Given the description of an element on the screen output the (x, y) to click on. 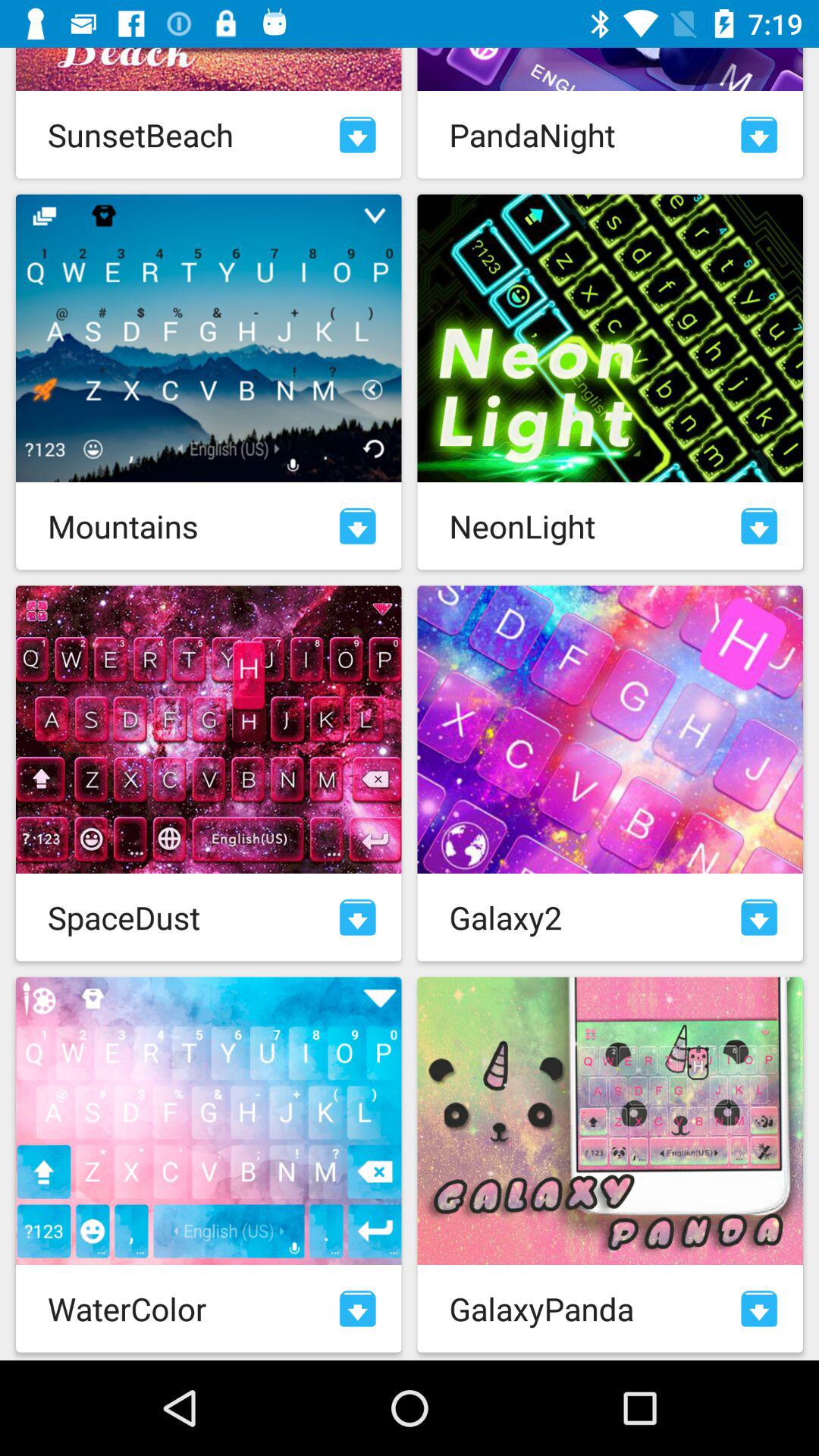
download file (357, 1308)
